Given the description of an element on the screen output the (x, y) to click on. 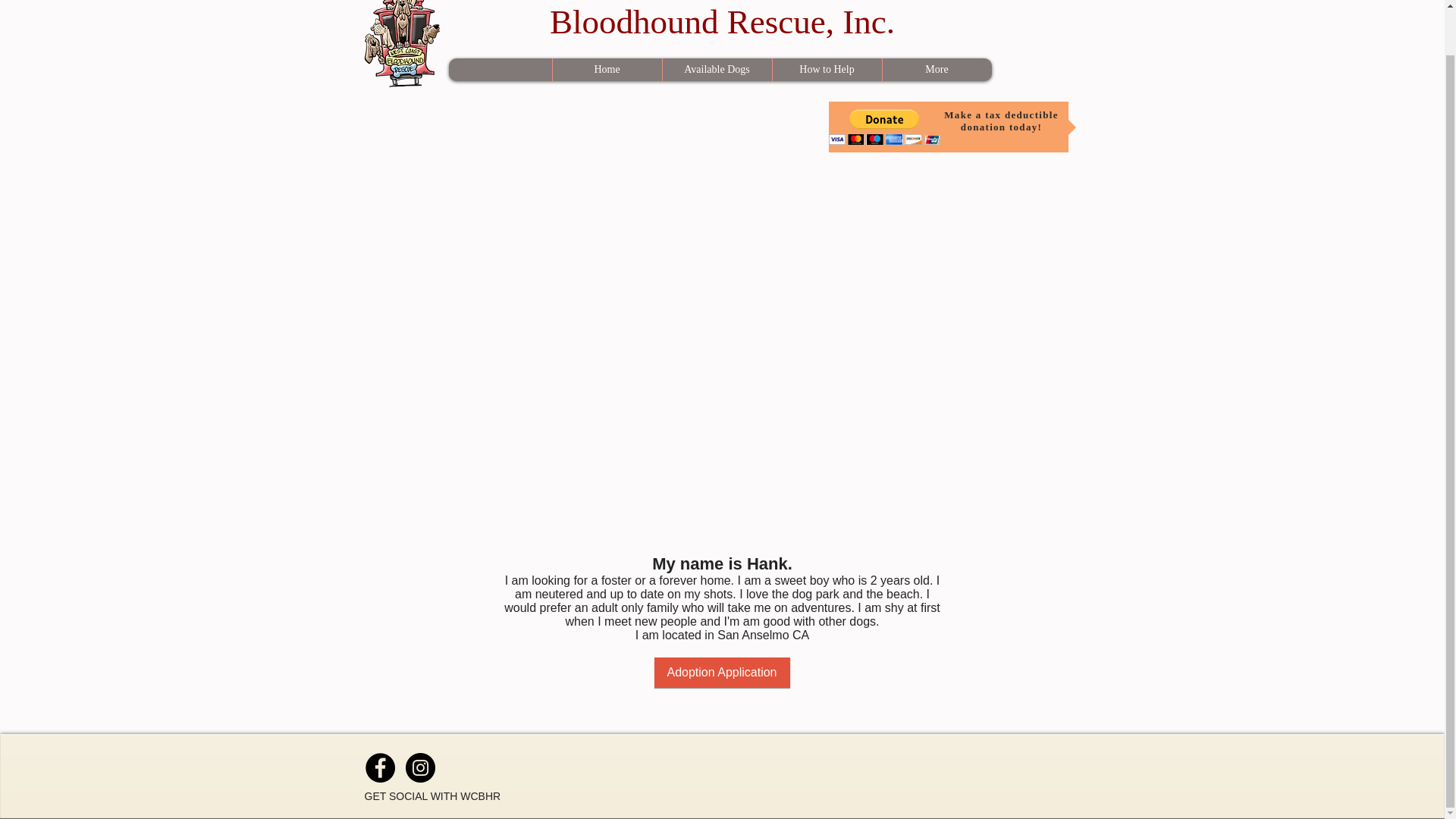
Available Dogs (716, 69)
How to Help (722, 20)
Adoption Application (826, 69)
Home (721, 672)
